Given the description of an element on the screen output the (x, y) to click on. 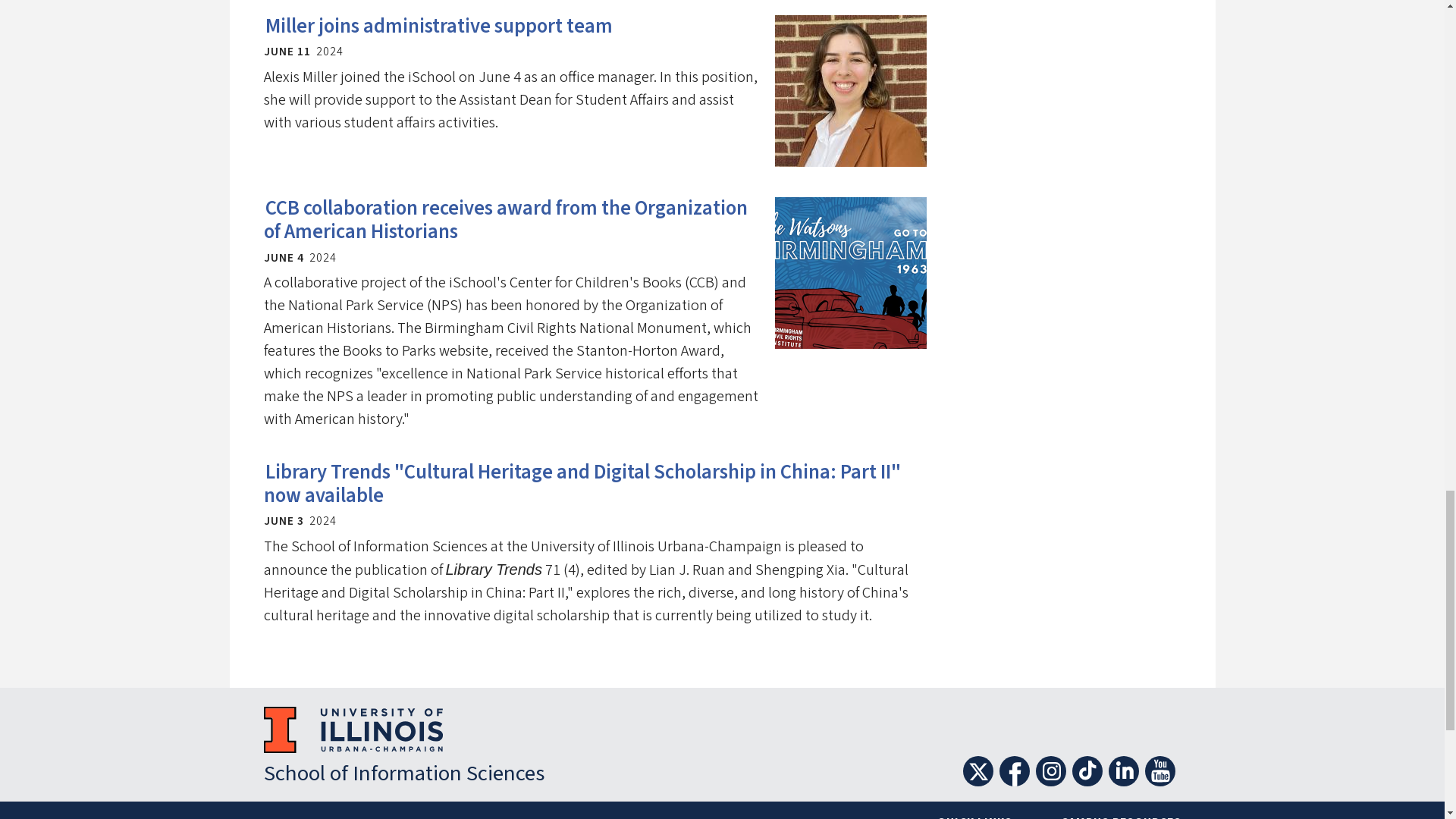
University of Illinois Urbana-Champaign (352, 729)
